Given the description of an element on the screen output the (x, y) to click on. 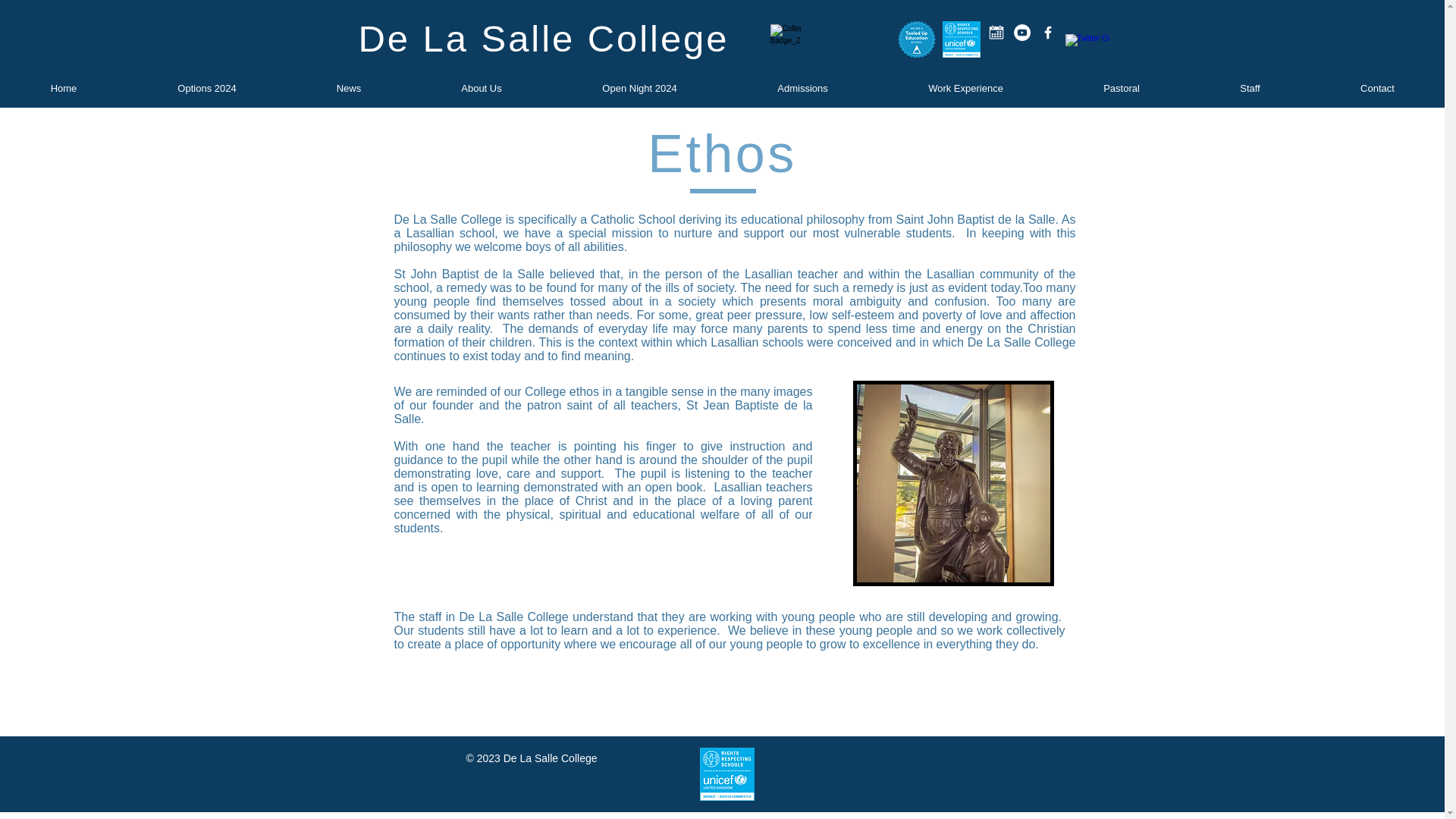
Open Night 2024 (638, 88)
Options 2024 (207, 88)
De La Salle College (543, 38)
Admissions (801, 88)
Home (64, 88)
Work Experience (964, 88)
